Given the description of an element on the screen output the (x, y) to click on. 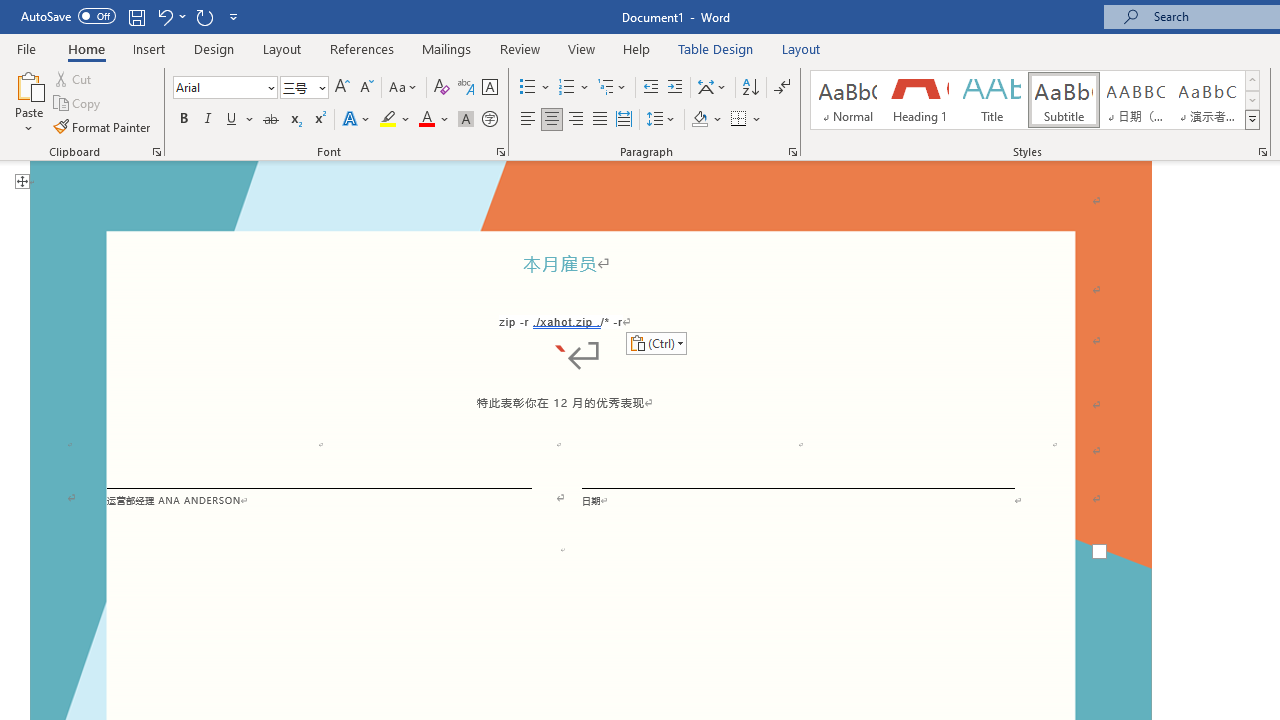
Undo Paste (164, 15)
